Given the description of an element on the screen output the (x, y) to click on. 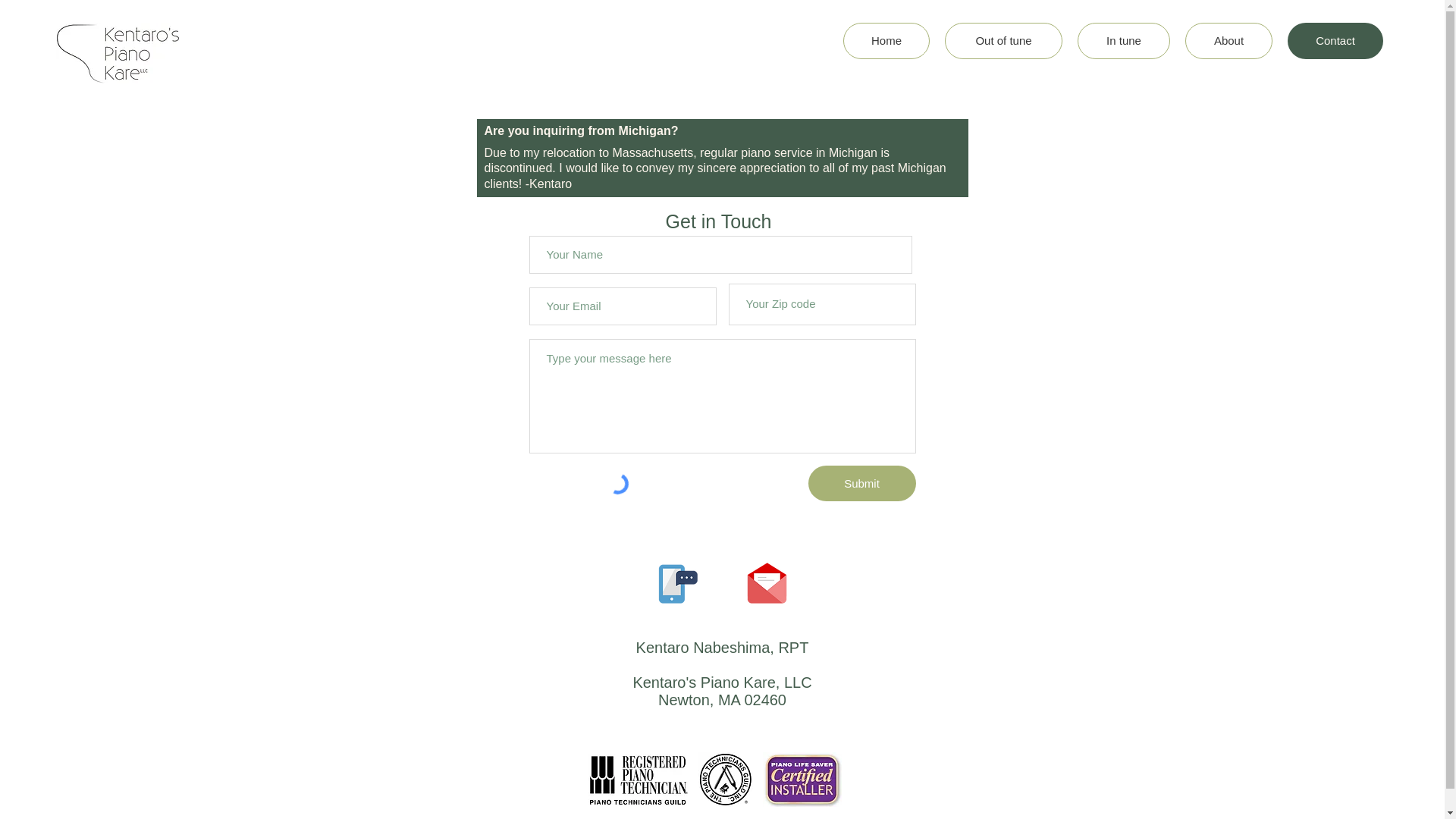
Contact (1335, 40)
Out of tune (1003, 40)
About (1228, 40)
In tune (1123, 40)
What is an RPT? (638, 779)
Submit (861, 483)
Home (886, 40)
